Given the description of an element on the screen output the (x, y) to click on. 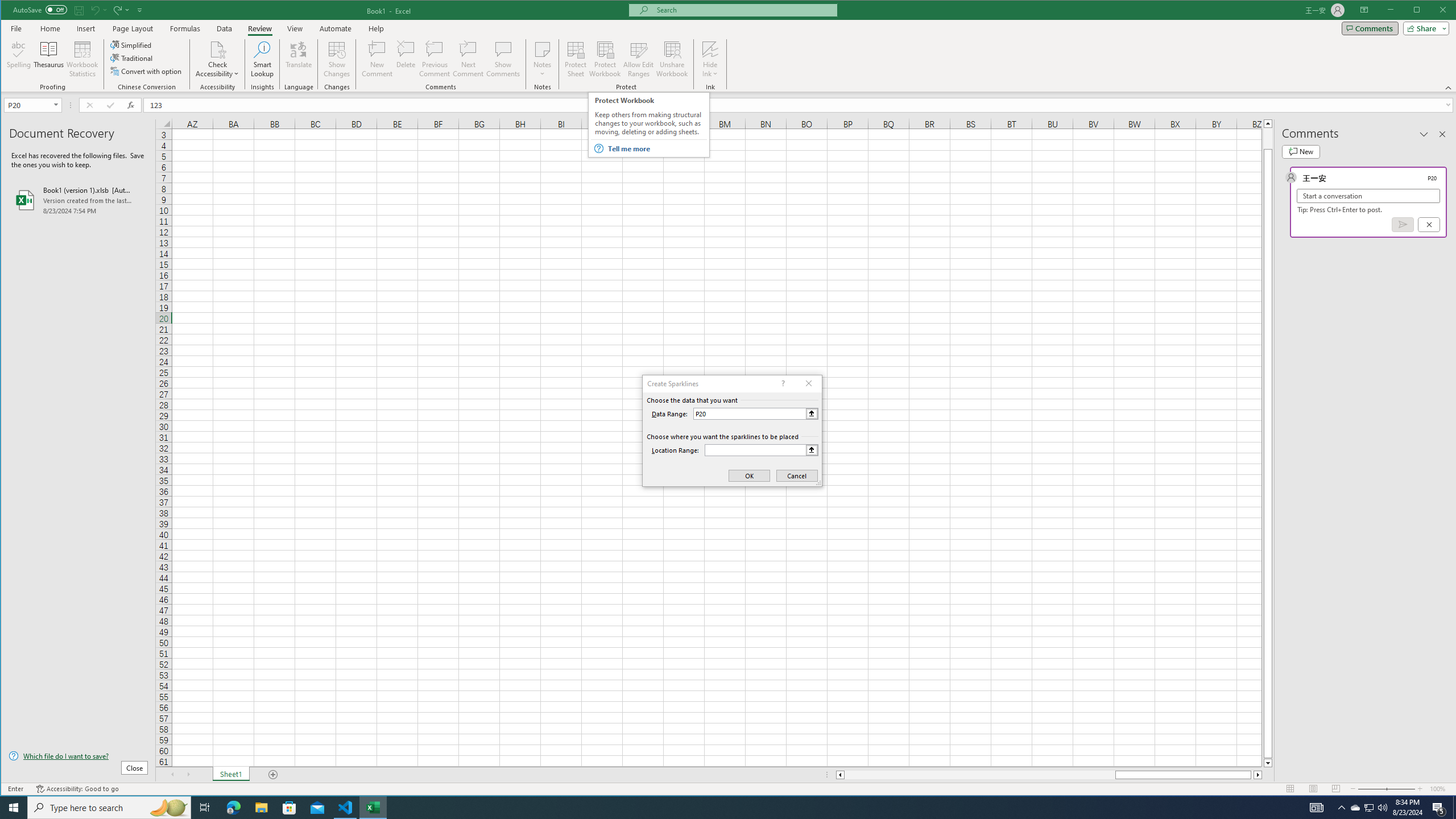
Thesaurus... (48, 59)
Task Pane Options (1423, 133)
Check Accessibility (217, 48)
Convert with option (146, 70)
Allow Edit Ranges (638, 59)
Traditional (132, 57)
Unshare Workbook (671, 59)
